Given the description of an element on the screen output the (x, y) to click on. 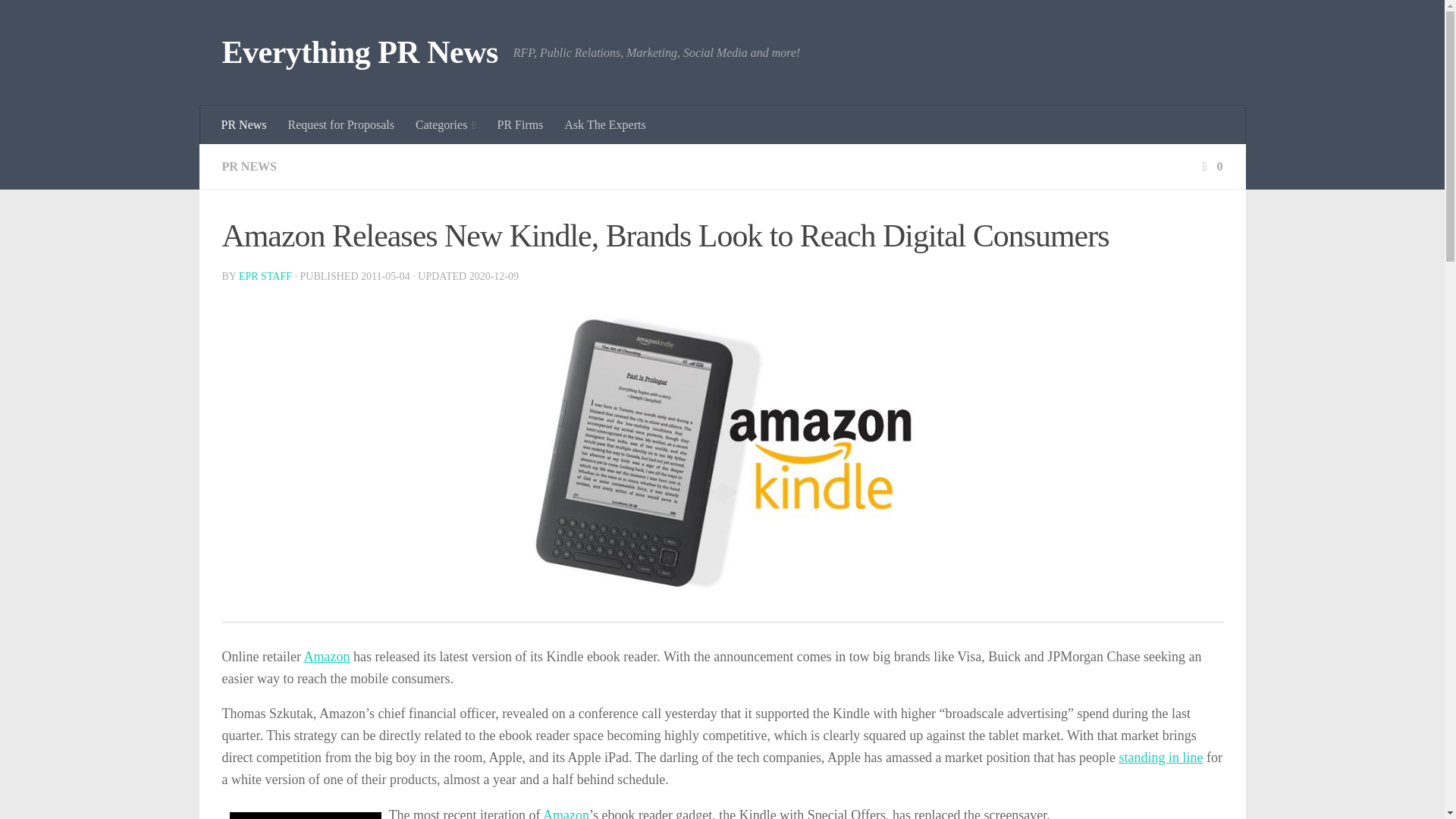
Posts by EPR Staff (265, 276)
Everything PR News (359, 53)
PR News (244, 125)
Categories (445, 125)
Request for Proposals (341, 125)
Skip to content (59, 20)
Amazon Kindle everything-pr (722, 454)
screensaver (304, 815)
